Given the description of an element on the screen output the (x, y) to click on. 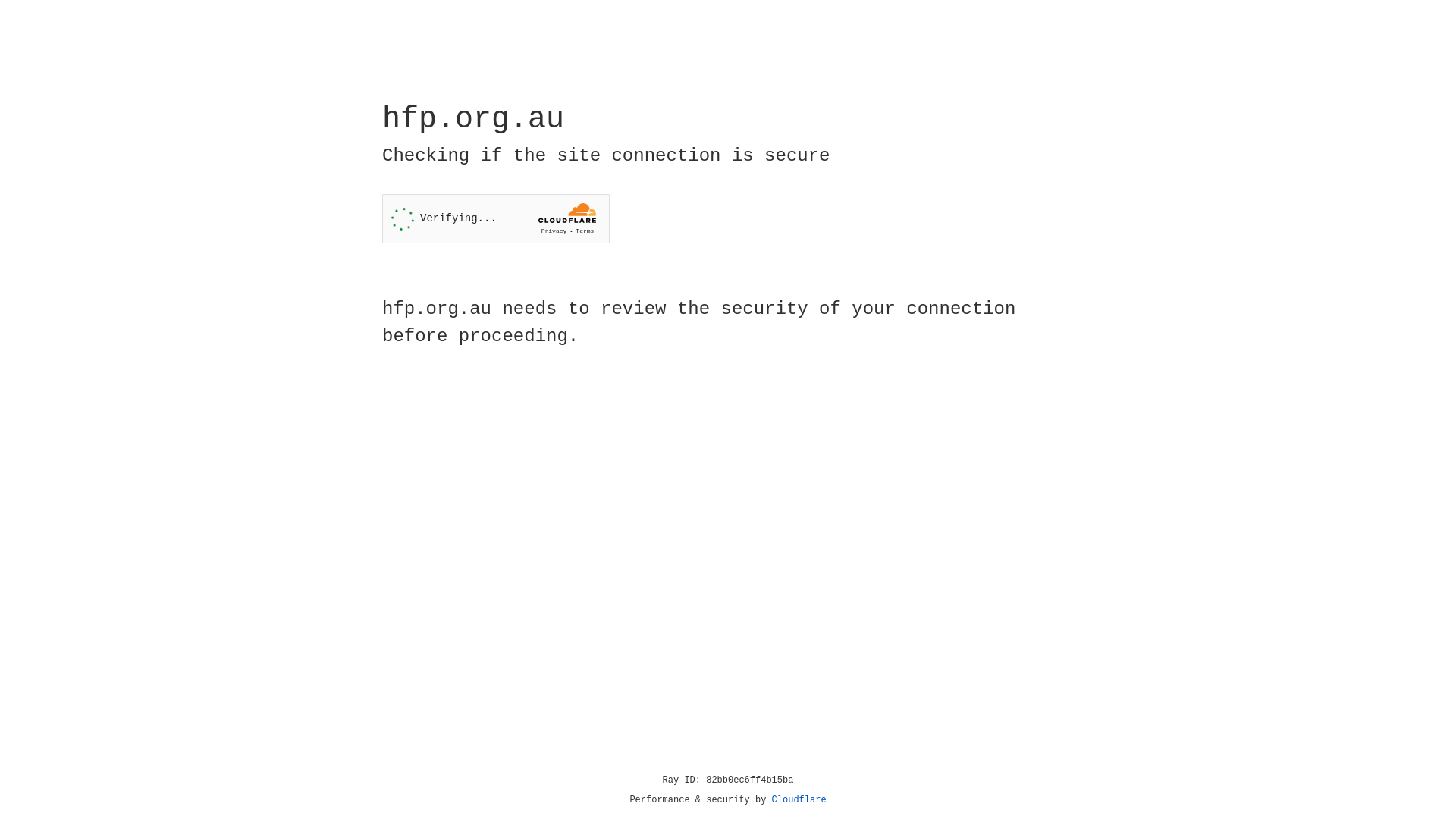
Cloudflare Element type: text (798, 799)
Widget containing a Cloudflare security challenge Element type: hover (495, 218)
